Given the description of an element on the screen output the (x, y) to click on. 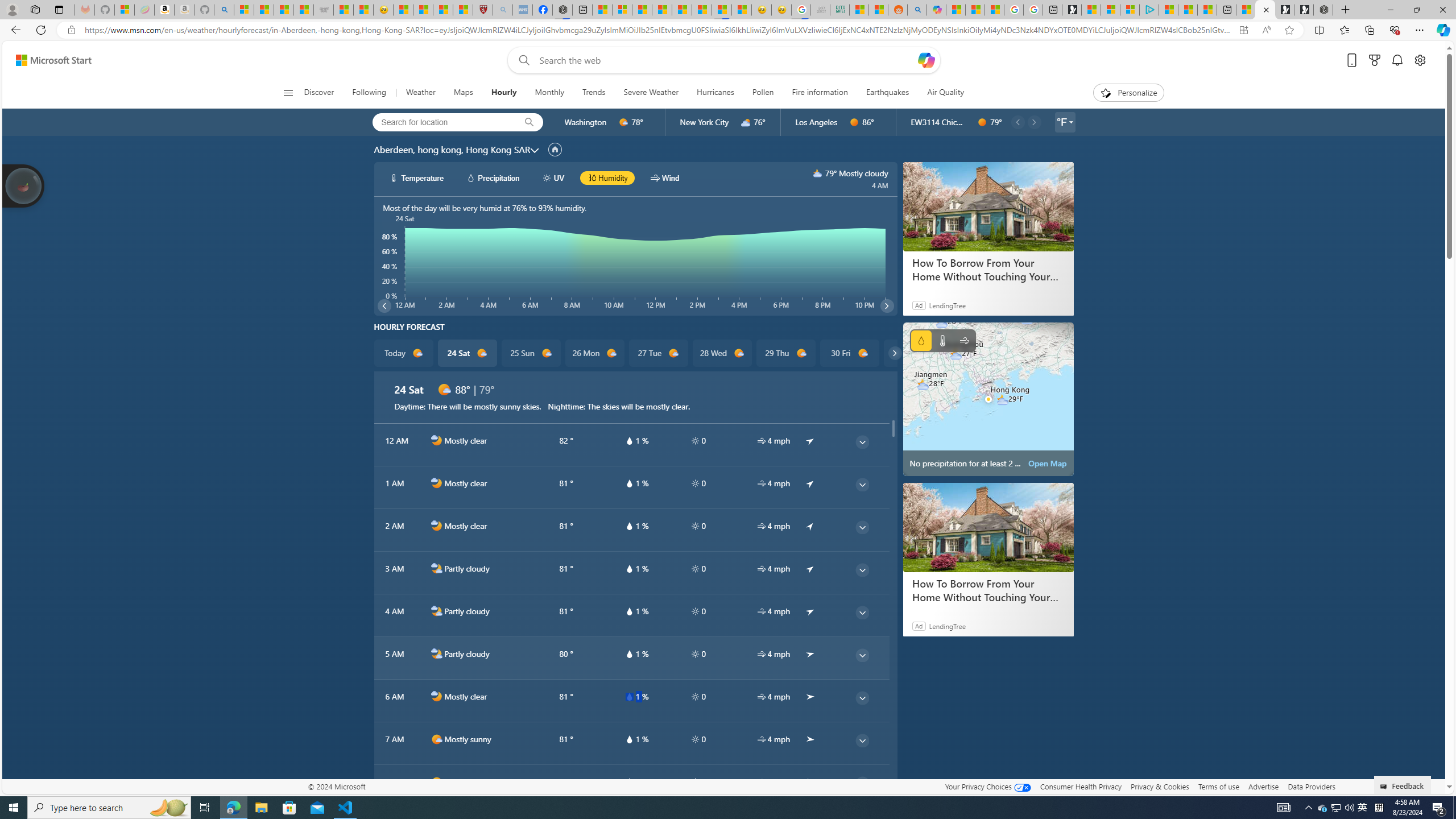
hourlyChart/uvWhite UV (553, 178)
Class: miniMapRadarSVGView-DS-EntryPoint1-1 (988, 398)
Severe Weather (650, 92)
Microsoft Copilot in Bing (935, 9)
